Given the description of an element on the screen output the (x, y) to click on. 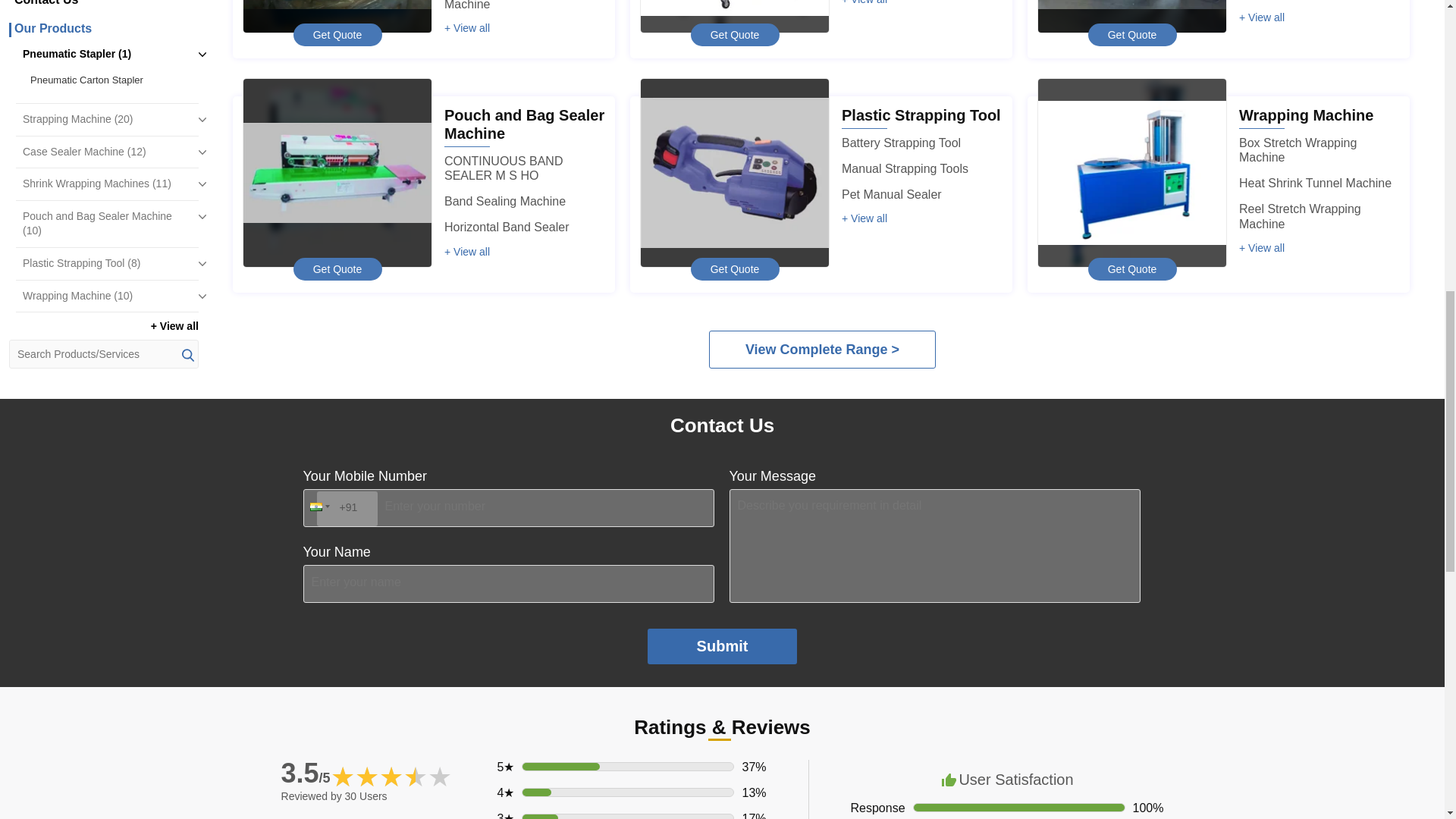
Submit (722, 646)
3.5 out of 5 Votes (305, 772)
